Given the description of an element on the screen output the (x, y) to click on. 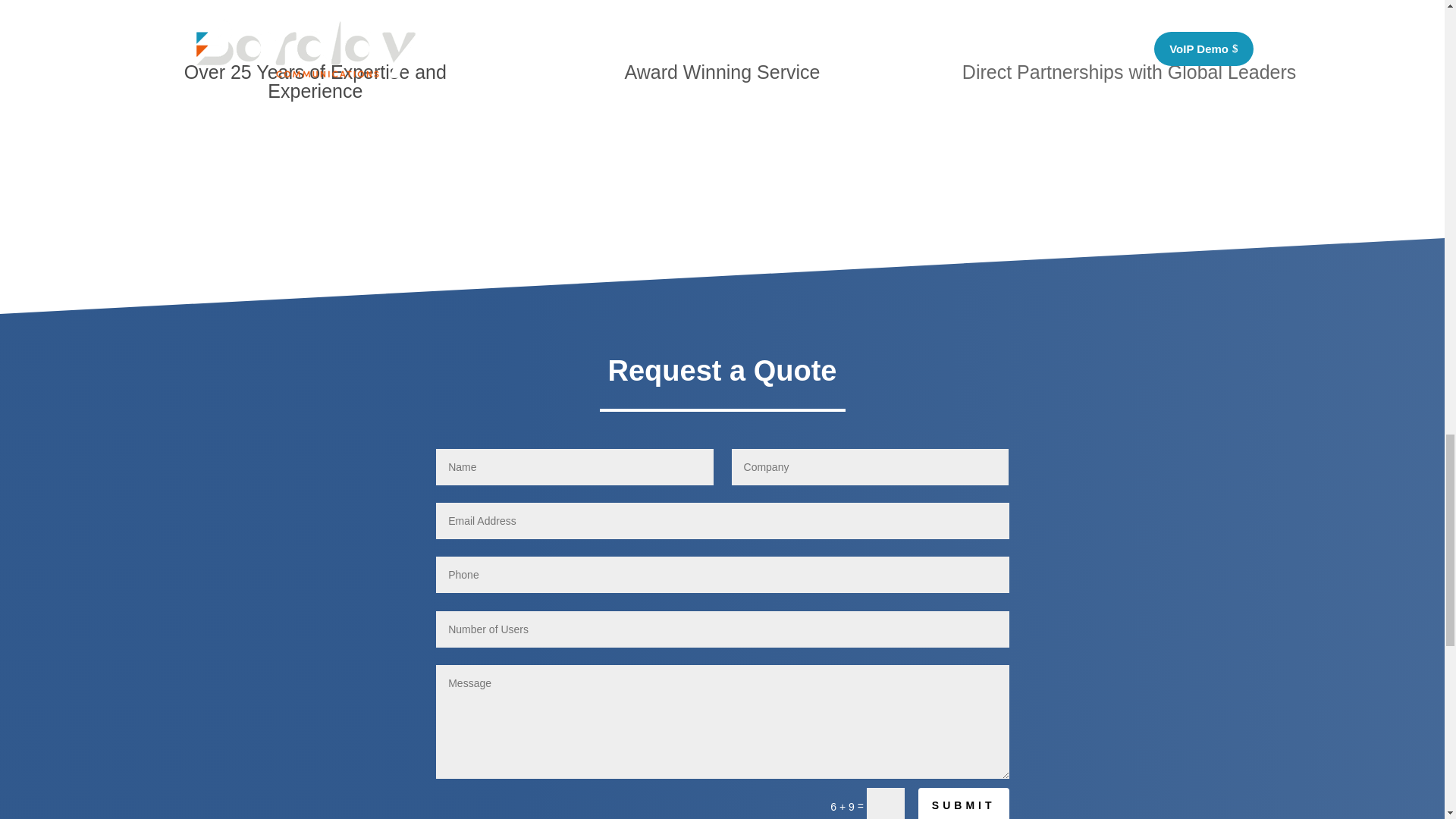
SUBMIT (963, 803)
Only numbers allowed. (722, 574)
Only letters and numbers allowed. (722, 628)
